Given the description of an element on the screen output the (x, y) to click on. 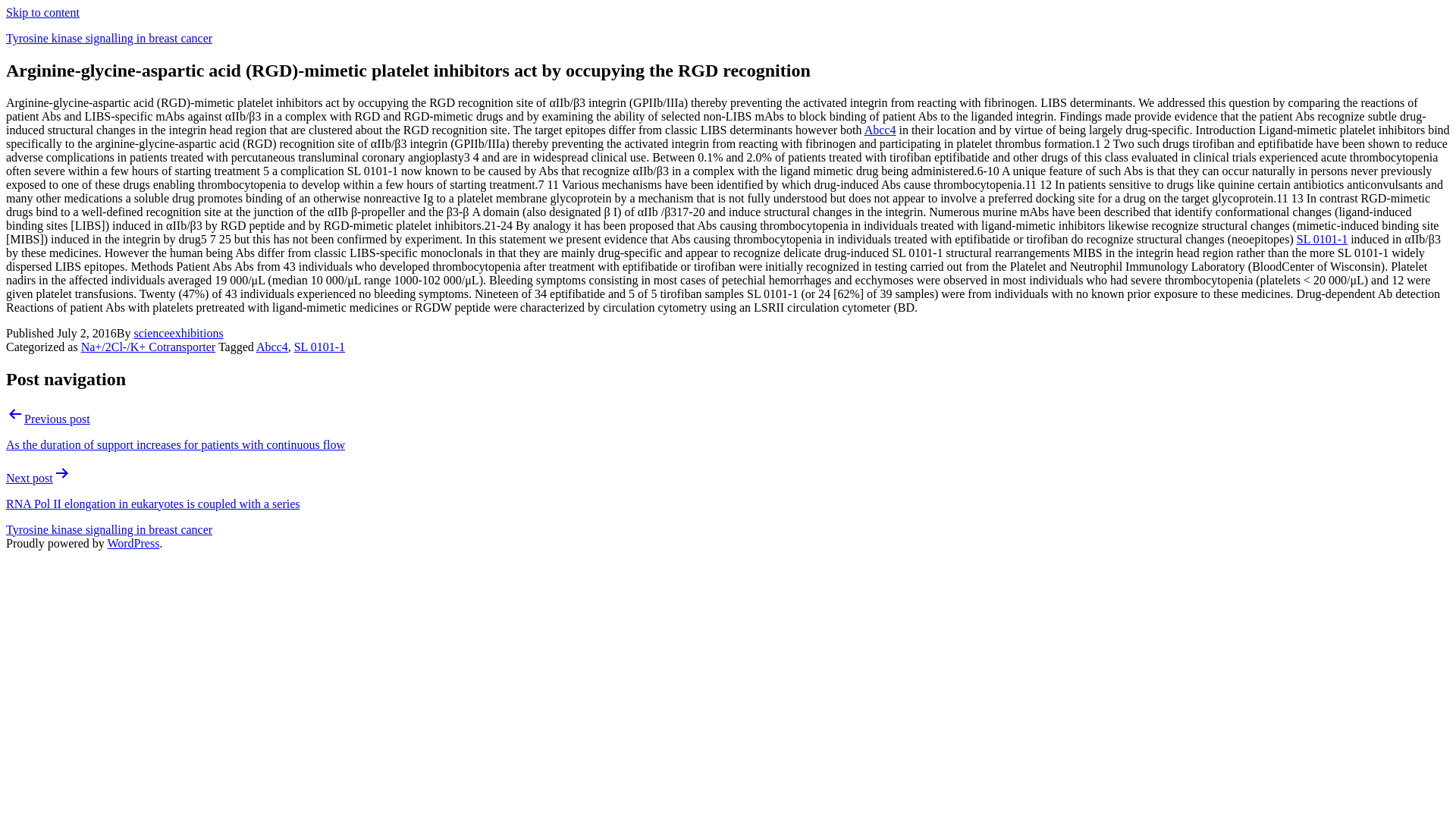
Abcc4 (272, 346)
Skip to content (42, 11)
SL 0101-1 (319, 346)
Tyrosine kinase signalling in breast cancer (108, 38)
SL 0101-1 (1322, 238)
scienceexhibitions (177, 332)
Tyrosine kinase signalling in breast cancer (108, 529)
Abcc4 (880, 129)
